Given the description of an element on the screen output the (x, y) to click on. 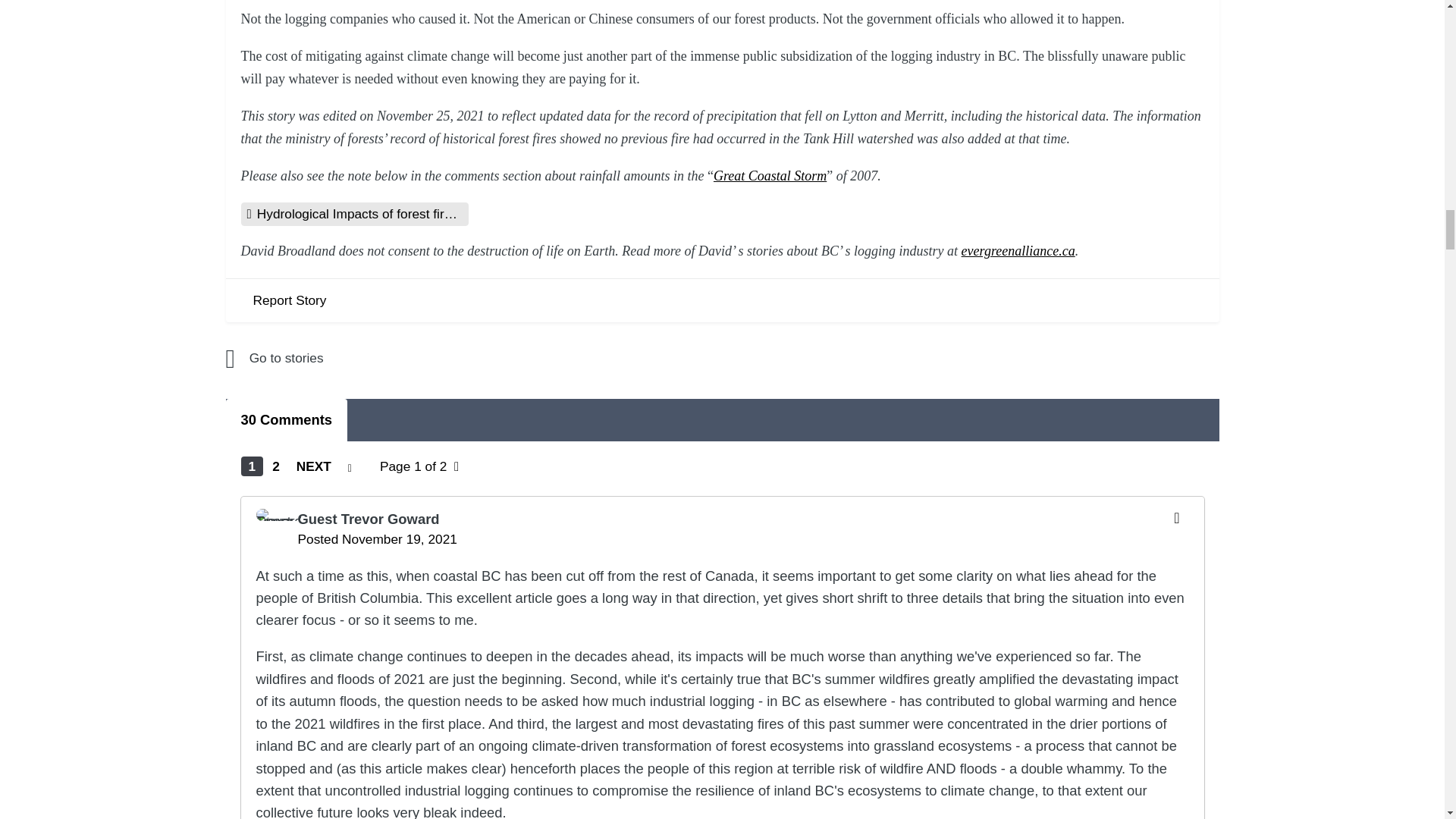
Report Story (290, 300)
